Given the description of an element on the screen output the (x, y) to click on. 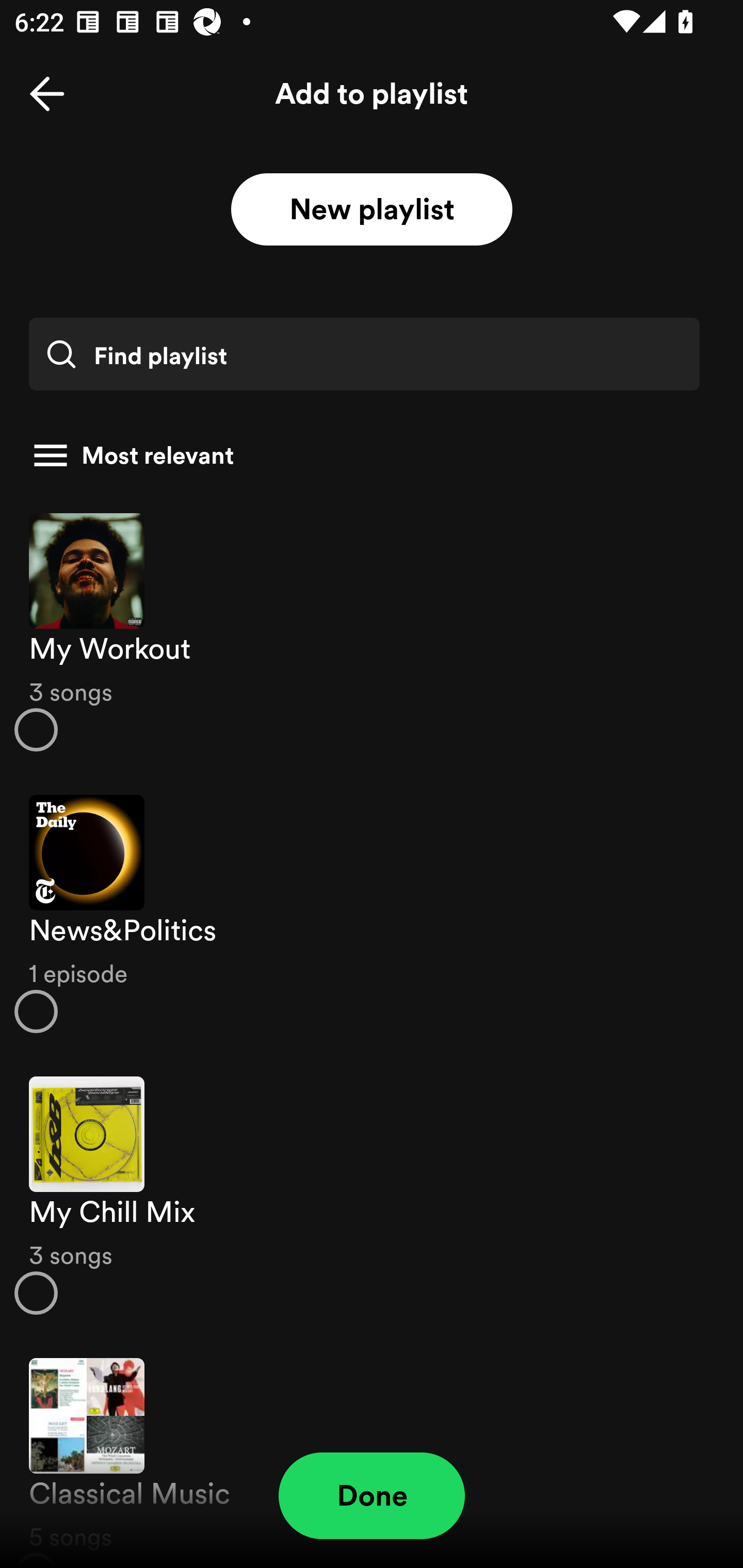
Back (46, 93)
New playlist (371, 210)
Find playlist (363, 354)
Most relevant (363, 455)
My Workout 3 songs (371, 631)
News&Politics 1 episode (371, 914)
My Chill Mix 3 songs (371, 1195)
Classical Music 5 songs (371, 1451)
Done (371, 1495)
